Given the description of an element on the screen output the (x, y) to click on. 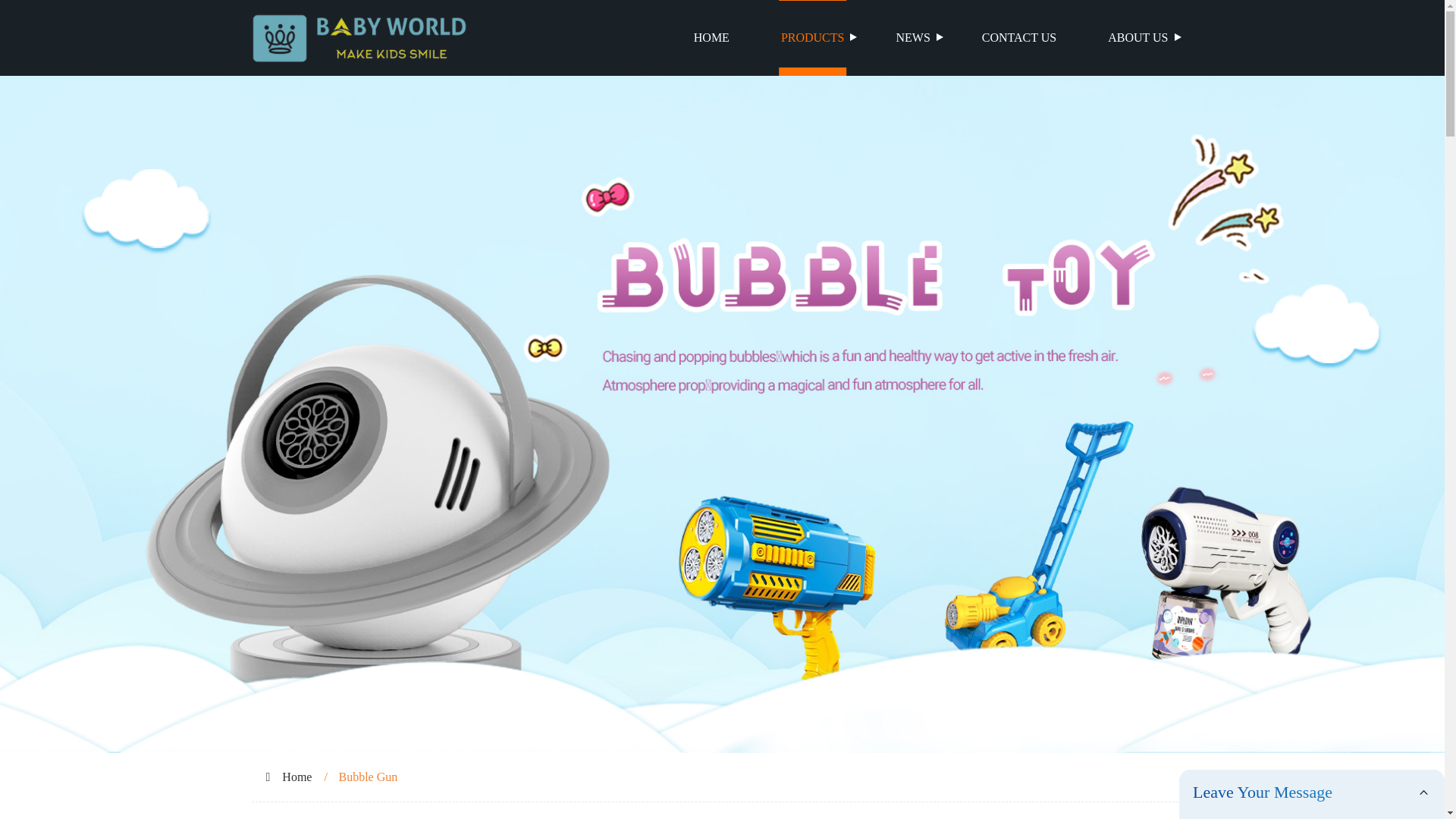
Home (296, 776)
CONTACT US (1018, 38)
PRODUCTS (812, 38)
